Given the description of an element on the screen output the (x, y) to click on. 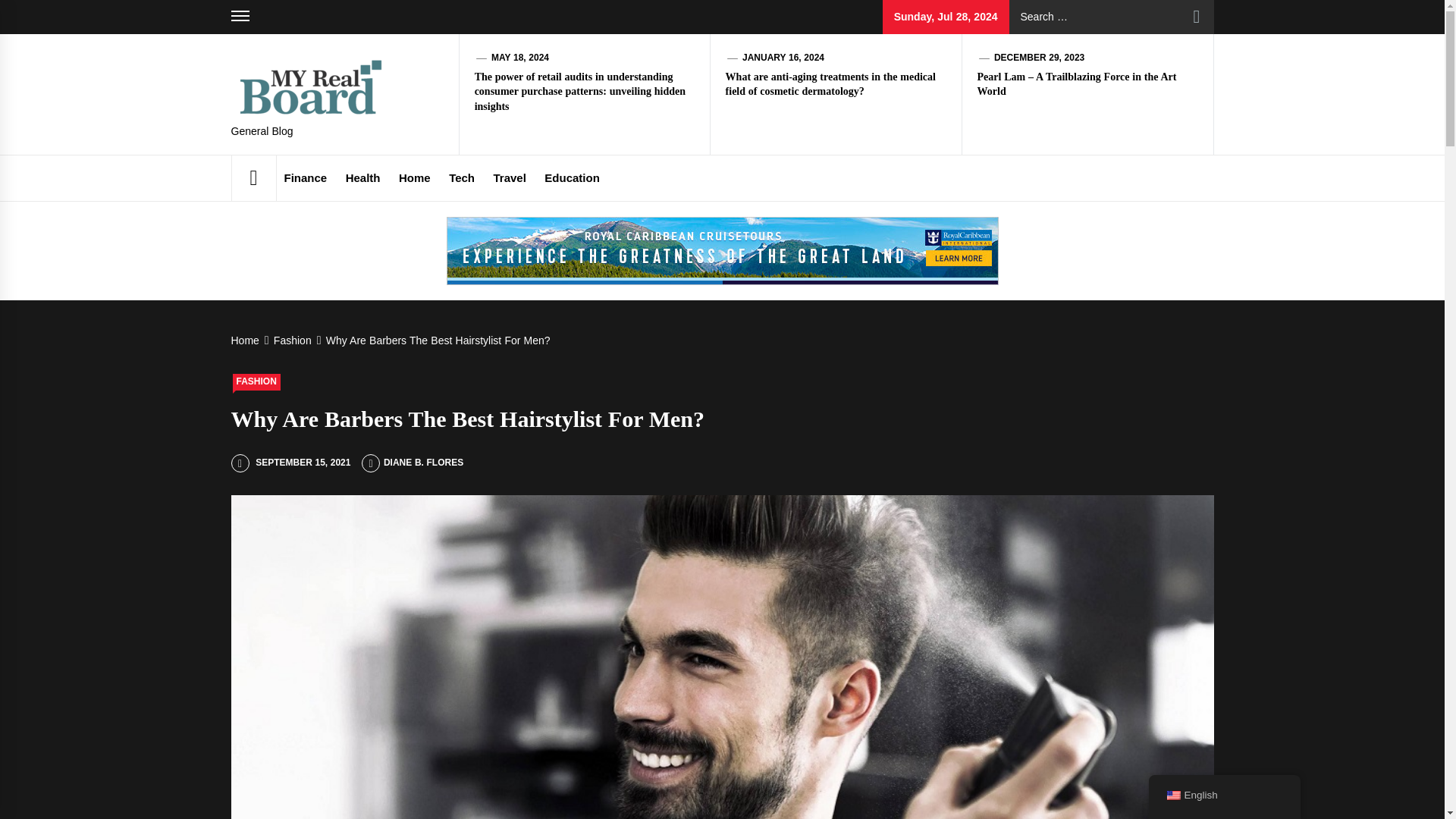
Home (414, 177)
Why Are Barbers The Best Hairstylist For Men? (436, 340)
Tech (461, 177)
DECEMBER 29, 2023 (1039, 57)
Search (1196, 17)
English (1172, 795)
Health (362, 177)
JANUARY 16, 2024 (783, 57)
Travel (508, 177)
Search (1196, 17)
Search (1196, 17)
Finance (305, 177)
SEPTEMBER 15, 2021 (290, 462)
